Given the description of an element on the screen output the (x, y) to click on. 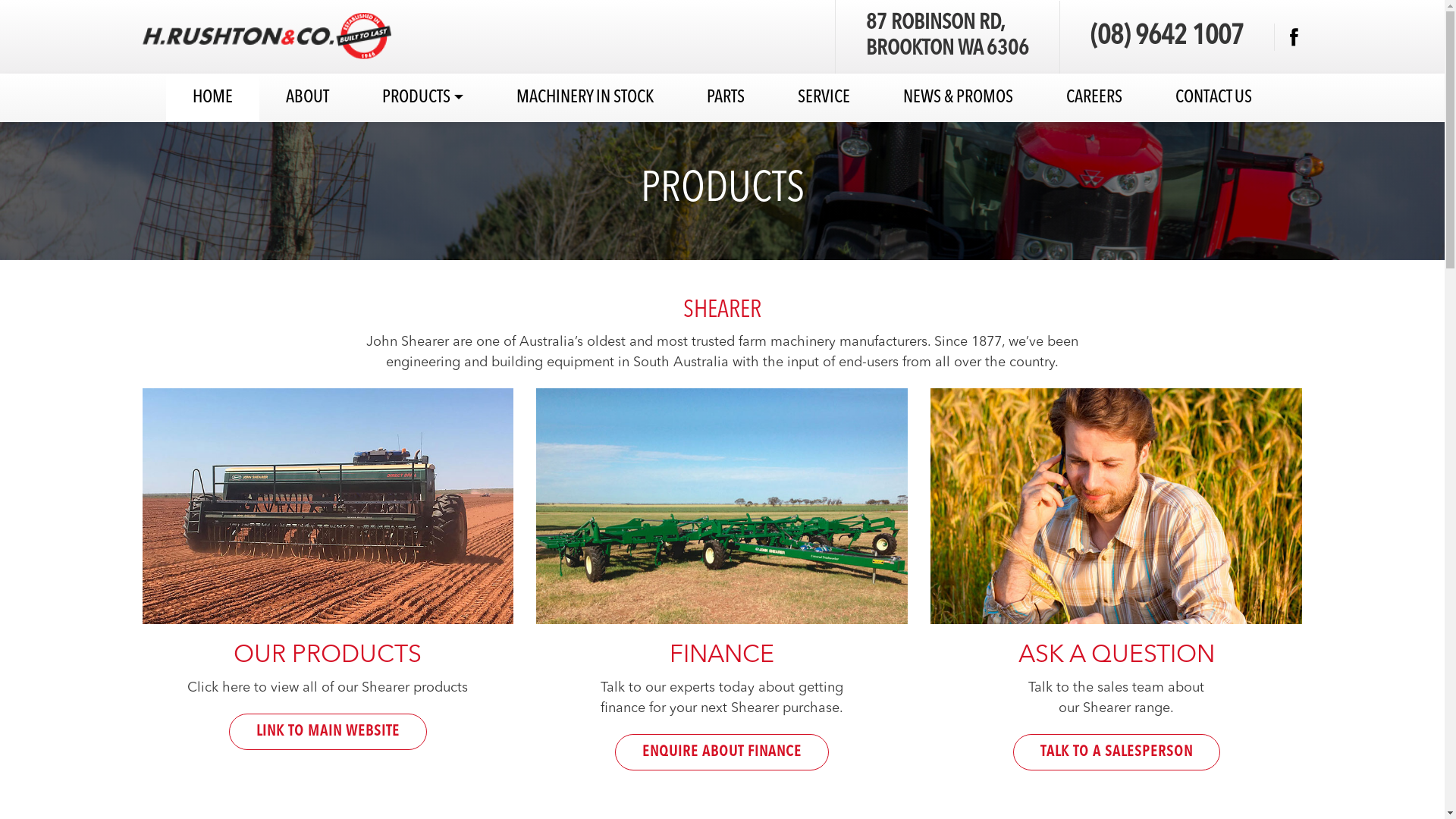
ABOUT Element type: text (307, 97)
CAREERS Element type: text (1094, 97)
HOME Element type: text (212, 97)
MACHINERY IN STOCK Element type: text (584, 97)
(08) 9642 1007 Element type: text (1166, 36)
SERVICE Element type: text (823, 97)
PARTS Element type: text (725, 97)
PRODUCTS Element type: text (422, 97)
NEWS & PROMOS Element type: text (957, 97)
CONTACT US Element type: text (1213, 97)
87 ROBINSON RD,
BROOKTON WA 6306 Element type: text (947, 35)
